Given the description of an element on the screen output the (x, y) to click on. 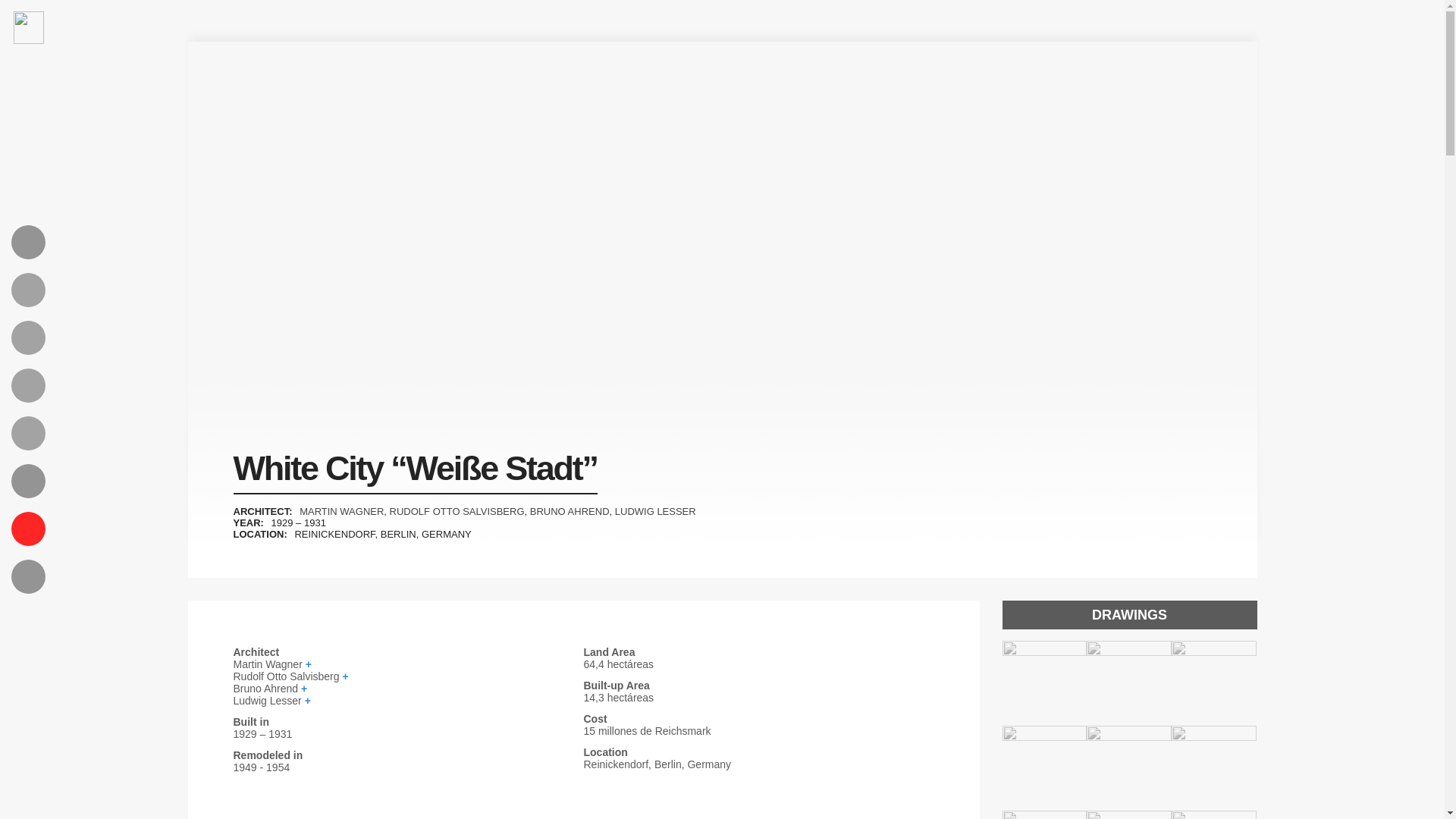
RUDOLF OTTO SALVISBERG (457, 511)
Martin Wagner (407, 664)
BRUNO AHREND (569, 511)
LUDWIG LESSER (654, 511)
Rudolf Otto Salvisberg (407, 676)
MARTIN WAGNER (341, 511)
Bruno Ahrend (407, 688)
Ludwig Lesser (407, 700)
